Given the description of an element on the screen output the (x, y) to click on. 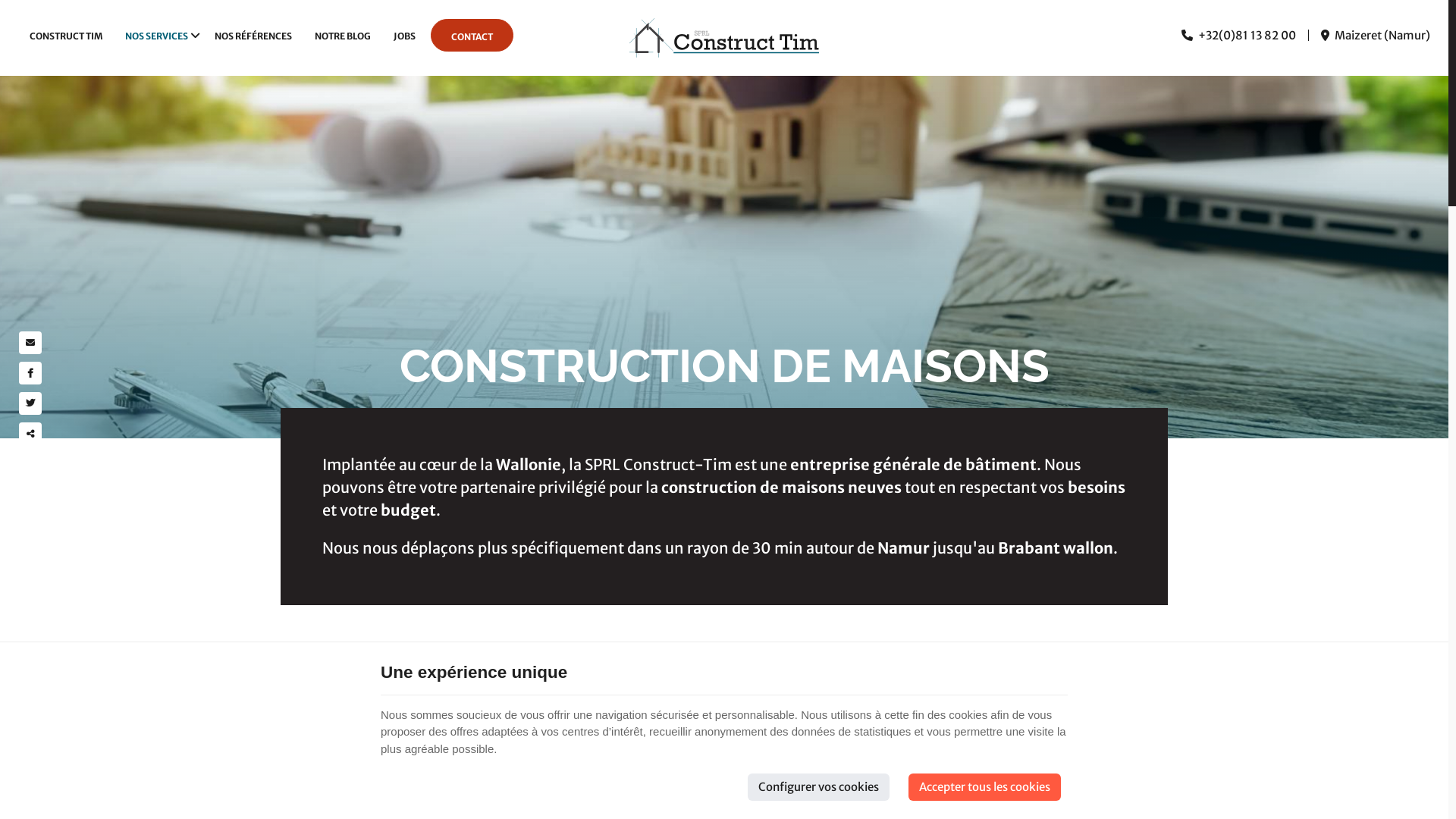
CONTACT Element type: text (471, 36)
NOTRE BLOG Element type: text (342, 35)
+32(0)81 13 82 00 Element type: text (1238, 34)
JOBS Element type: text (404, 35)
Configurer vos cookies Element type: text (818, 786)
Accepter tous les cookies Element type: text (984, 786)
Demandez un devis Element type: text (723, 695)
NOS SERVICES Element type: text (158, 35)
CONSTRUCT TIM Element type: text (65, 35)
Construct Tim Element type: hover (724, 37)
Maizeret (Namur) Element type: text (1375, 34)
Partager ce contenu Element type: text (29, 433)
